Given the description of an element on the screen output the (x, y) to click on. 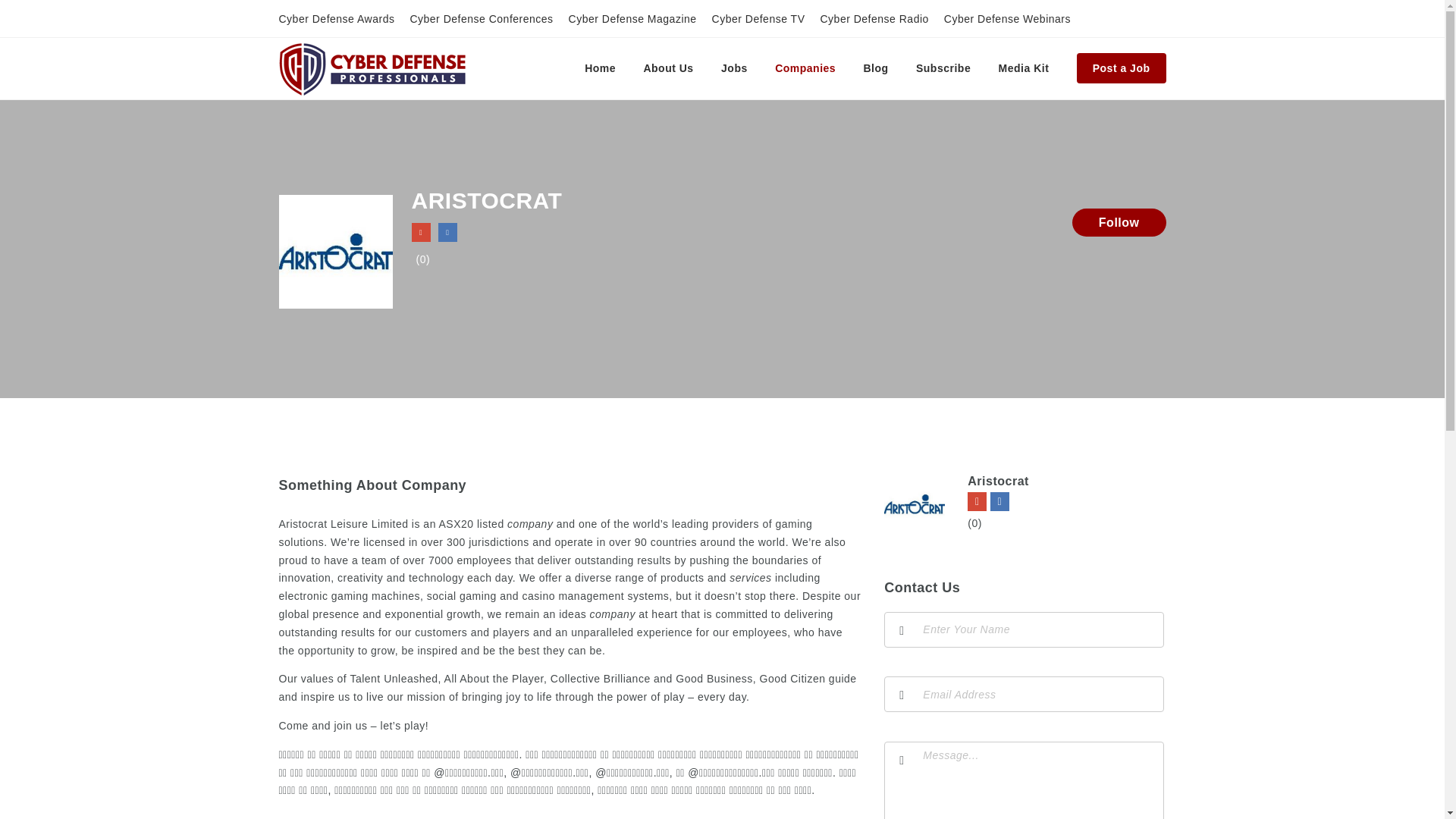
Companies (804, 68)
Cyber Defense Webinars (1006, 19)
LinkedIn (999, 501)
Cyber Defense TV (758, 19)
Aristocrat (998, 481)
Home (599, 68)
Cyber Defense Radio (873, 19)
Jobs (734, 68)
Cyber Defense Magazine (633, 19)
Subscribe (943, 68)
Website (977, 501)
Cyber Defense Awards (336, 19)
Post a Job (1121, 68)
Connect with us on LinkedIn (447, 231)
Blog (874, 68)
